Given the description of an element on the screen output the (x, y) to click on. 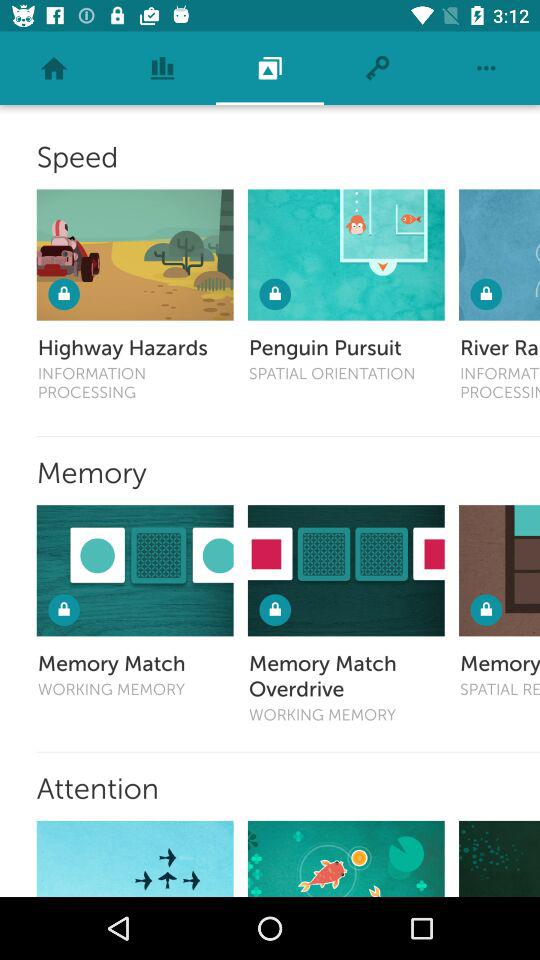
select option (134, 858)
